Given the description of an element on the screen output the (x, y) to click on. 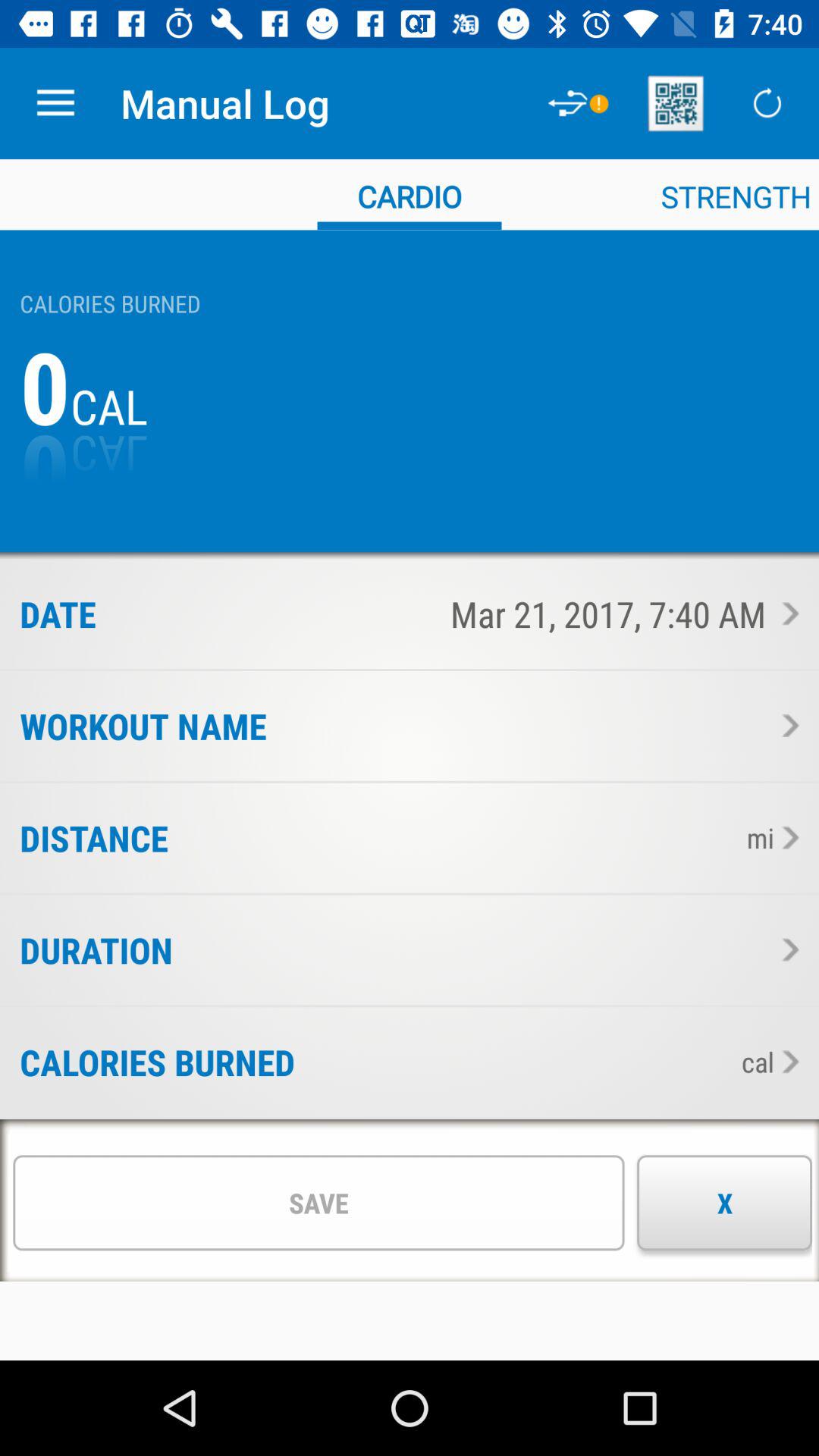
press item next to the calories burned item (513, 1062)
